Given the description of an element on the screen output the (x, y) to click on. 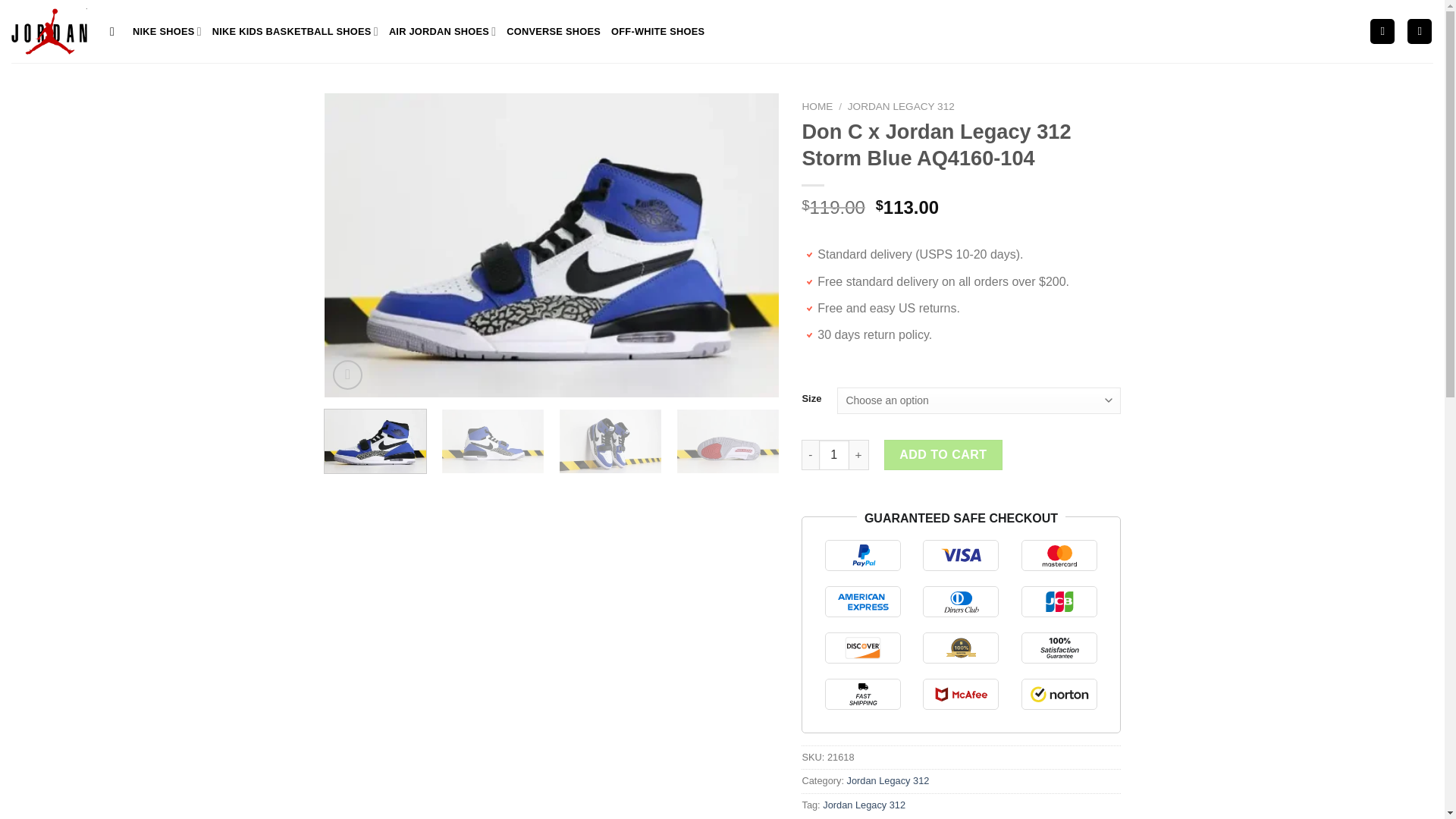
1 (833, 454)
Zoom (347, 374)
Cart (1419, 31)
NIKE SHOES (167, 30)
Qty (833, 454)
Cheap Nike Sneakers (49, 31)
